Given the description of an element on the screen output the (x, y) to click on. 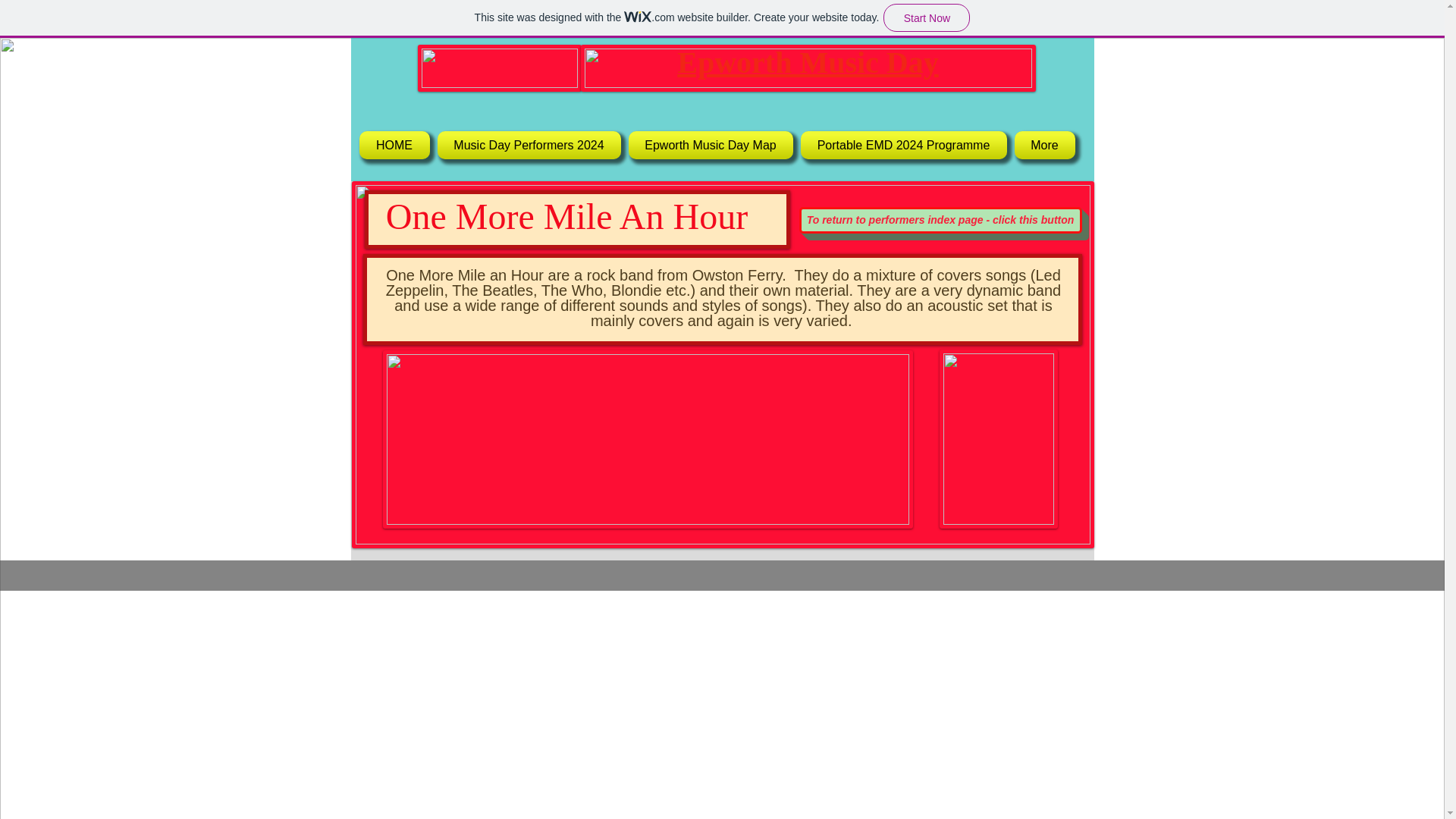
To return to performers index page - click this button (940, 220)
HOME (396, 144)
Music Day Performers 2024 (528, 144)
Portable EMD 2024 Programme (903, 144)
Epworth Music Day Map (710, 144)
music day logo2016.jpg (498, 68)
